Given the description of an element on the screen output the (x, y) to click on. 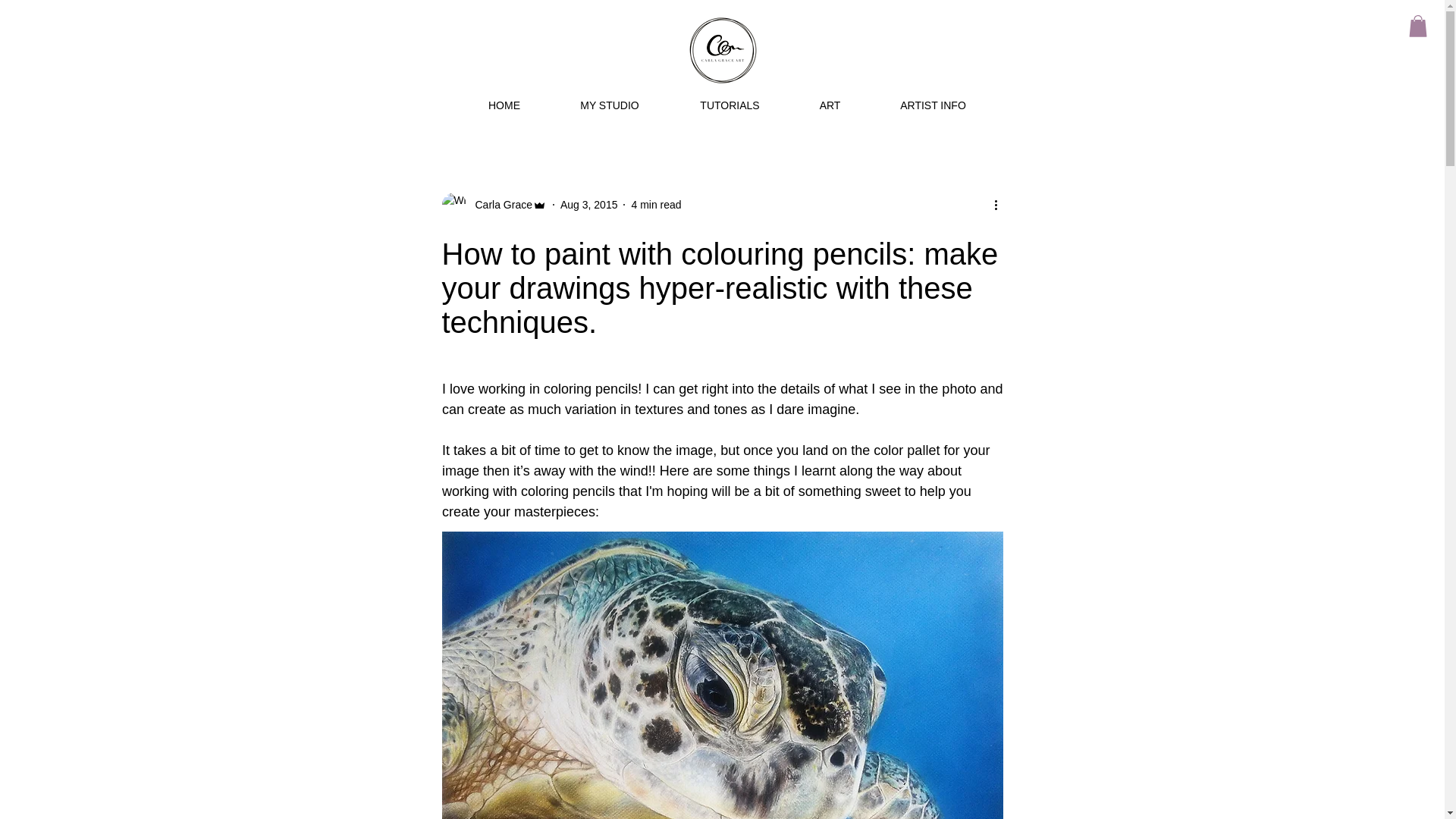
TUTORIALS (729, 105)
Carla Grace (493, 204)
Carla Grace (498, 204)
Aug 3, 2015 (588, 204)
MY STUDIO (609, 105)
ARTIST INFO (932, 105)
ART (829, 105)
4 min read (655, 204)
HOME (505, 105)
